Given the description of an element on the screen output the (x, y) to click on. 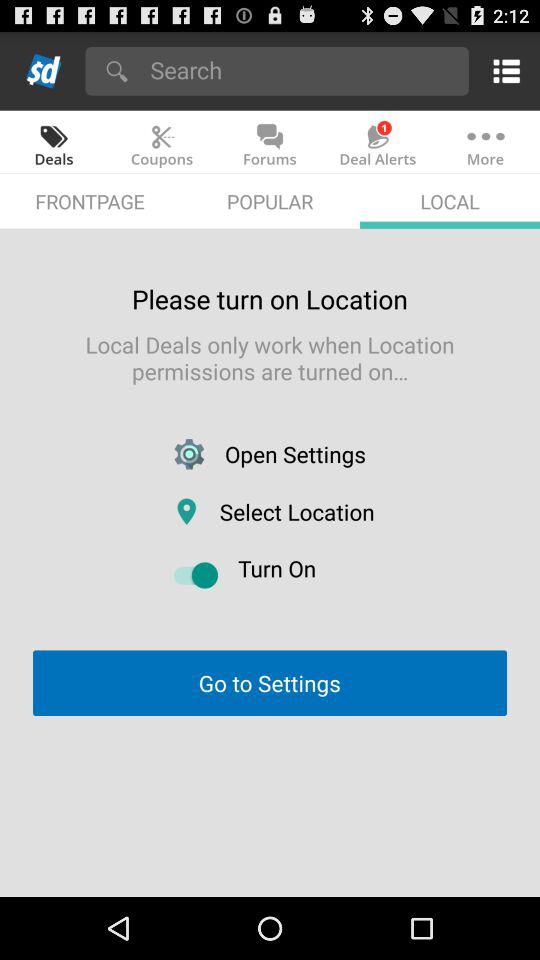
settings option (502, 70)
